Given the description of an element on the screen output the (x, y) to click on. 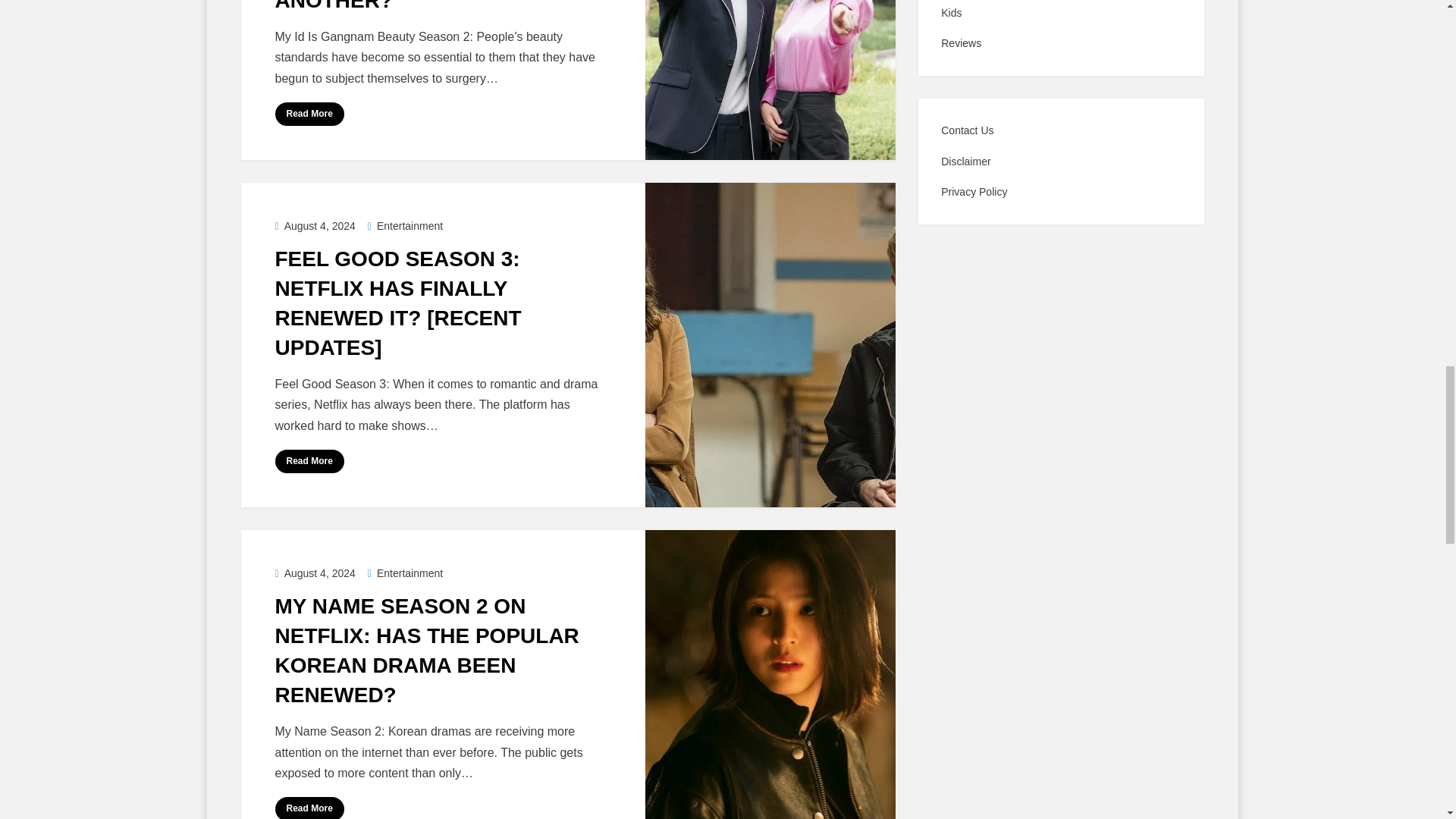
admin (312, 31)
Entertainment (405, 225)
Entertainment (405, 573)
MY ID IS GANGNAM BEAUTY SEASON 2: WILL THERE BE ANOTHER? (422, 6)
